Given the description of an element on the screen output the (x, y) to click on. 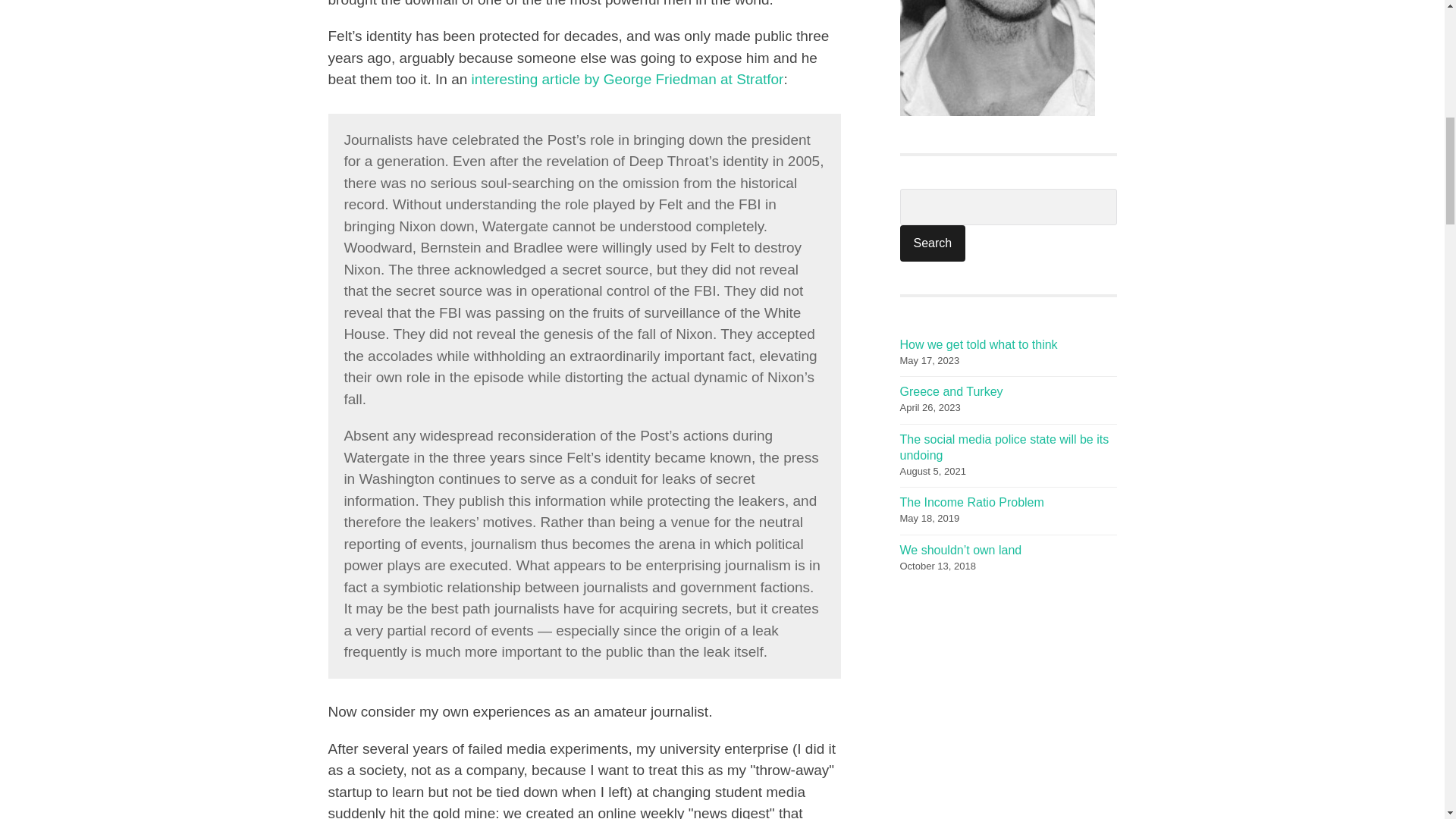
Search (932, 243)
interesting article by George Friedman at Stratfor (627, 78)
